Given the description of an element on the screen output the (x, y) to click on. 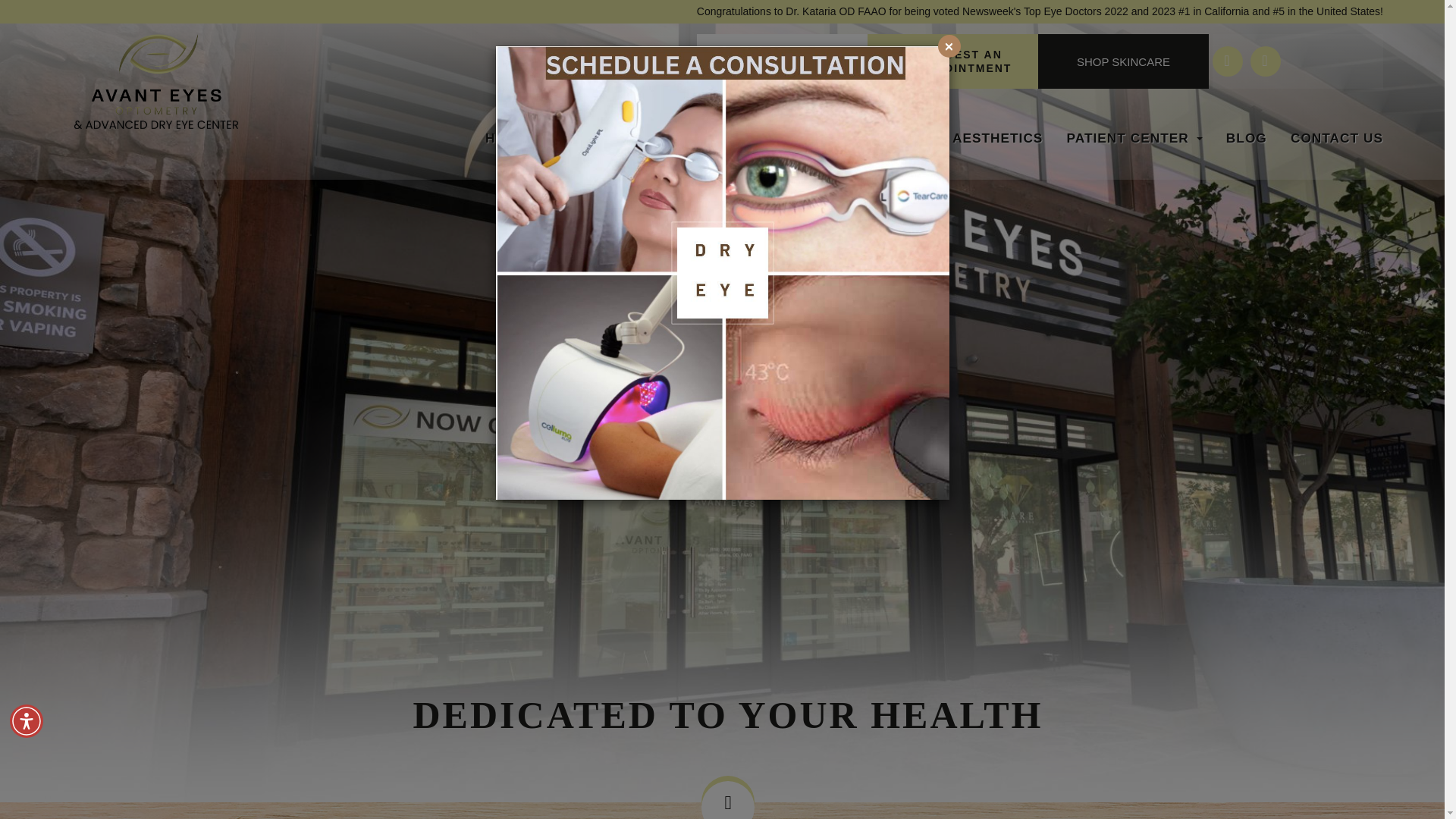
Accessibility Menu (26, 720)
